Given the description of an element on the screen output the (x, y) to click on. 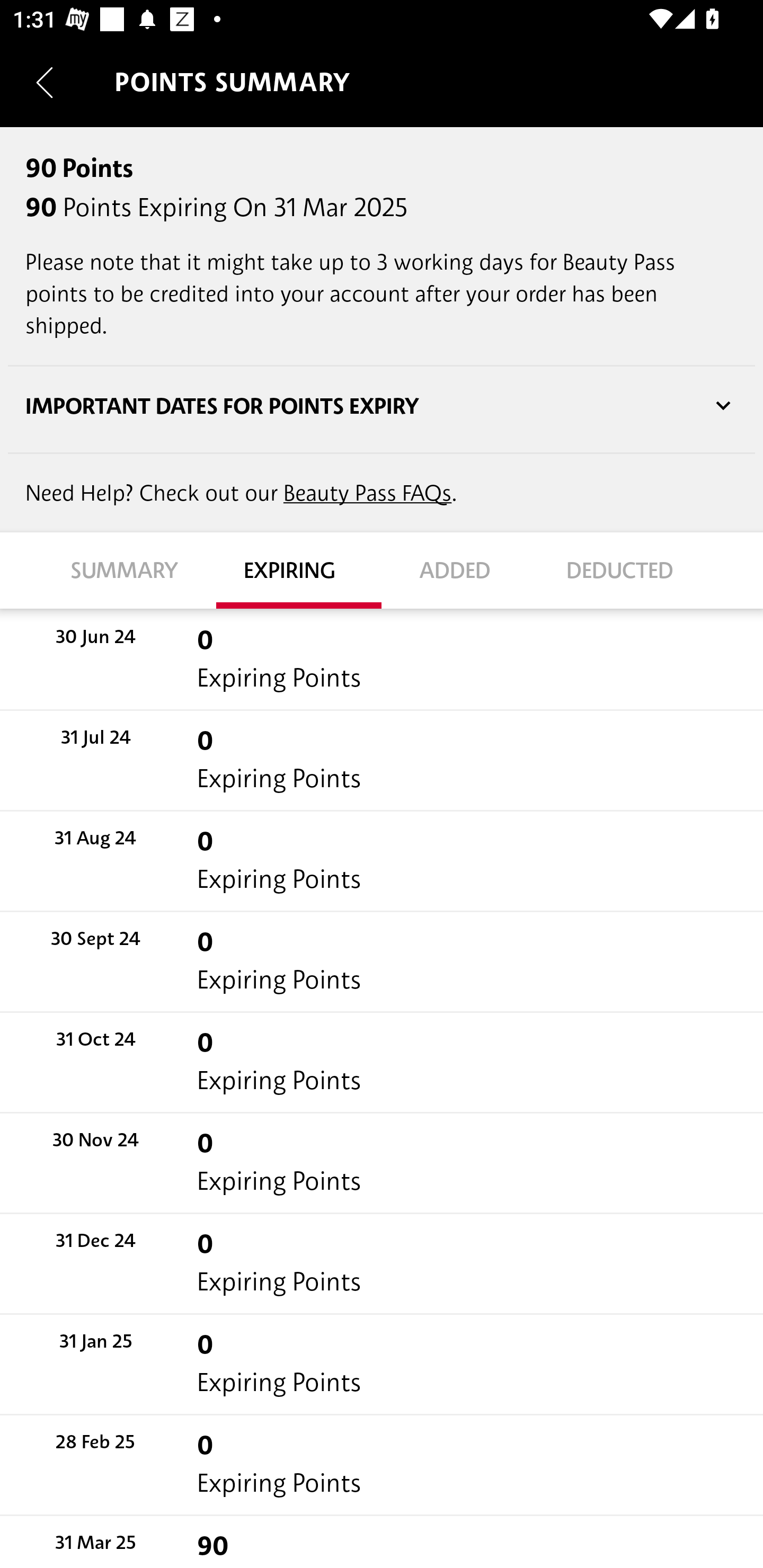
Navigate up (44, 82)
IMPORTANT DATES FOR POINTS EXPIRY (381, 406)
SUMMARY (133, 570)
ADDED (464, 570)
DEDUCTED (629, 570)
